Given the description of an element on the screen output the (x, y) to click on. 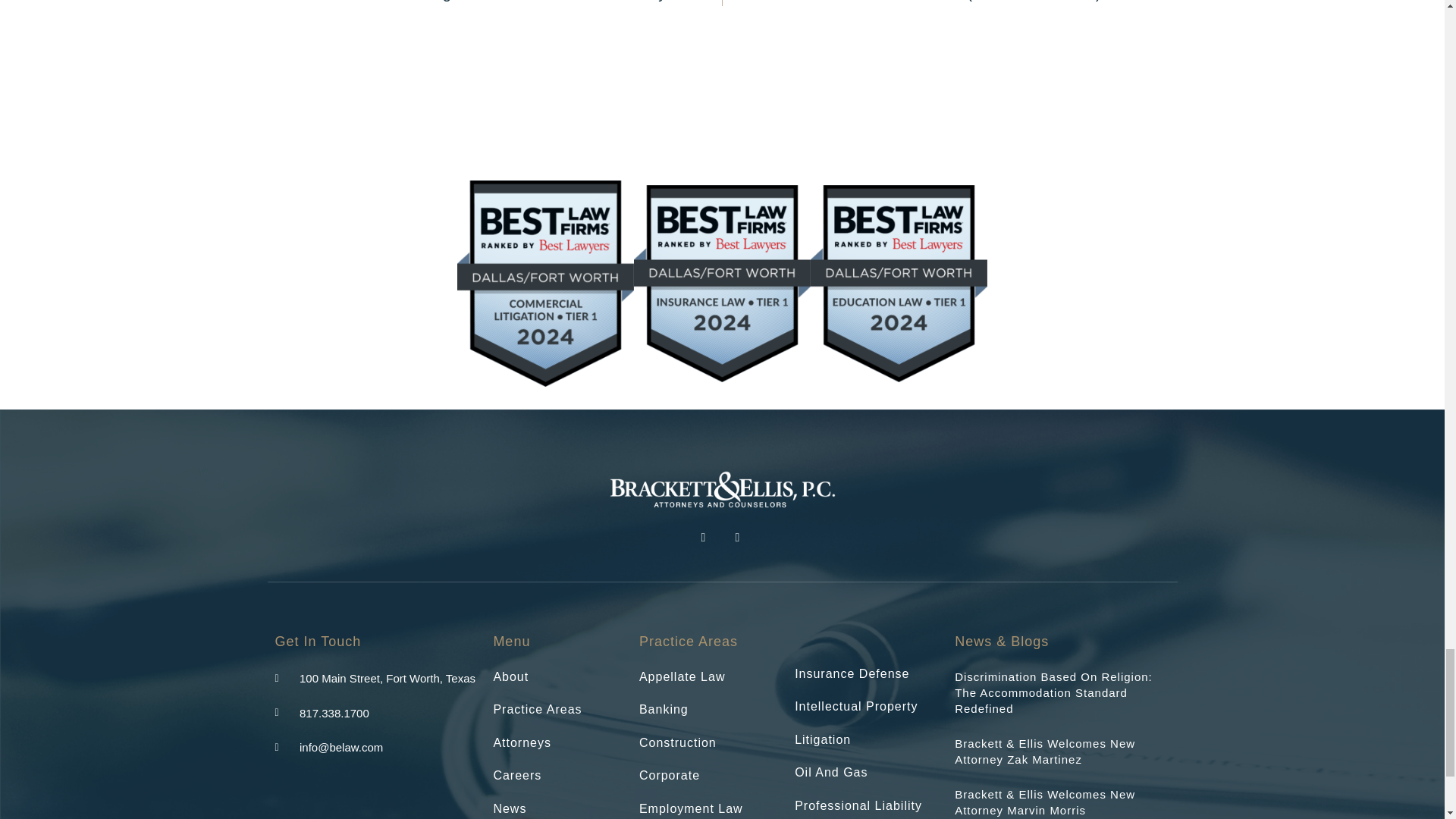
817.338.1700 (321, 713)
News (558, 808)
Practice Areas (558, 709)
Careers (558, 775)
About (558, 677)
Attorneys (558, 742)
